Given the description of an element on the screen output the (x, y) to click on. 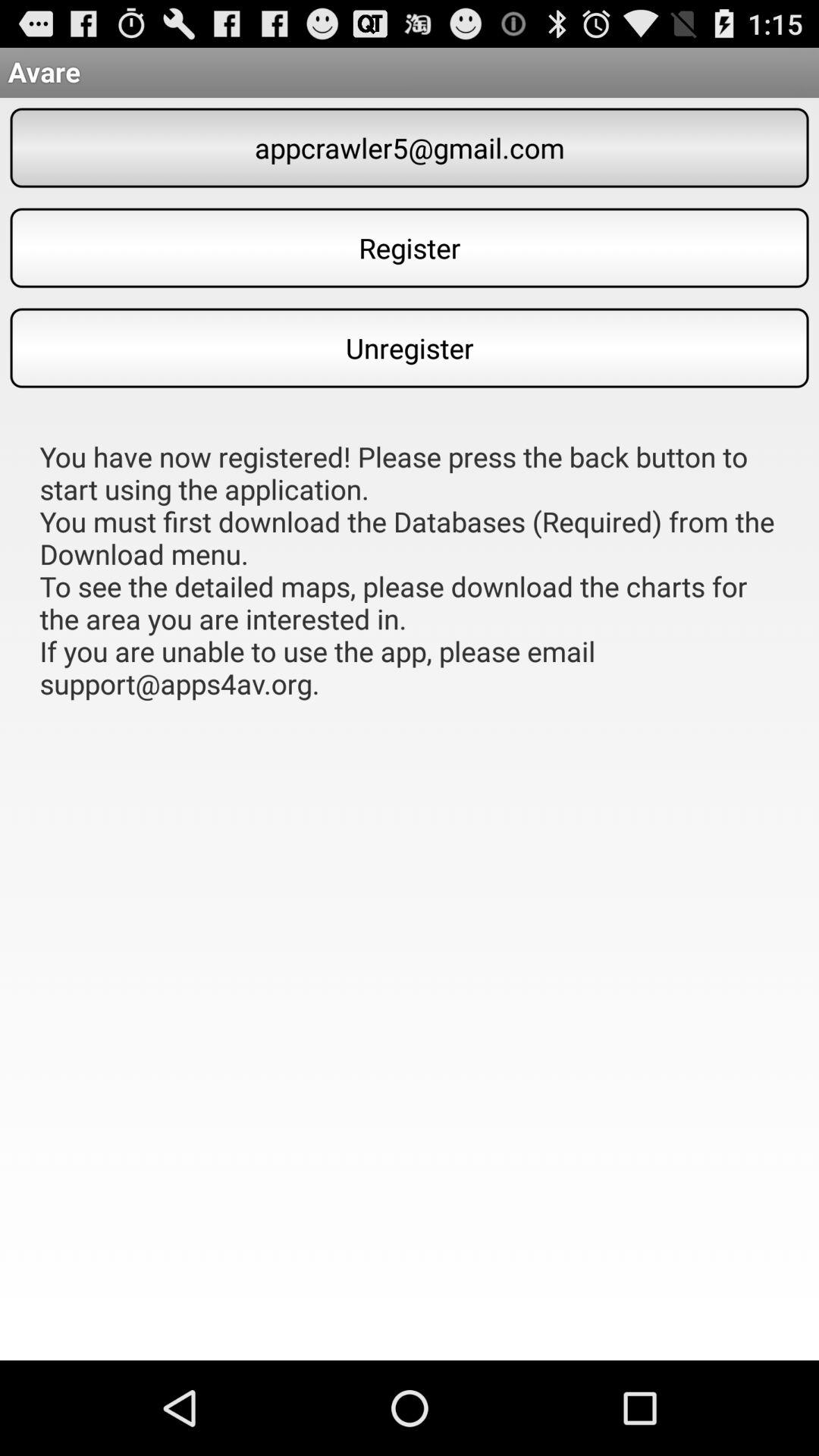
turn on item above the you have now (409, 347)
